Given the description of an element on the screen output the (x, y) to click on. 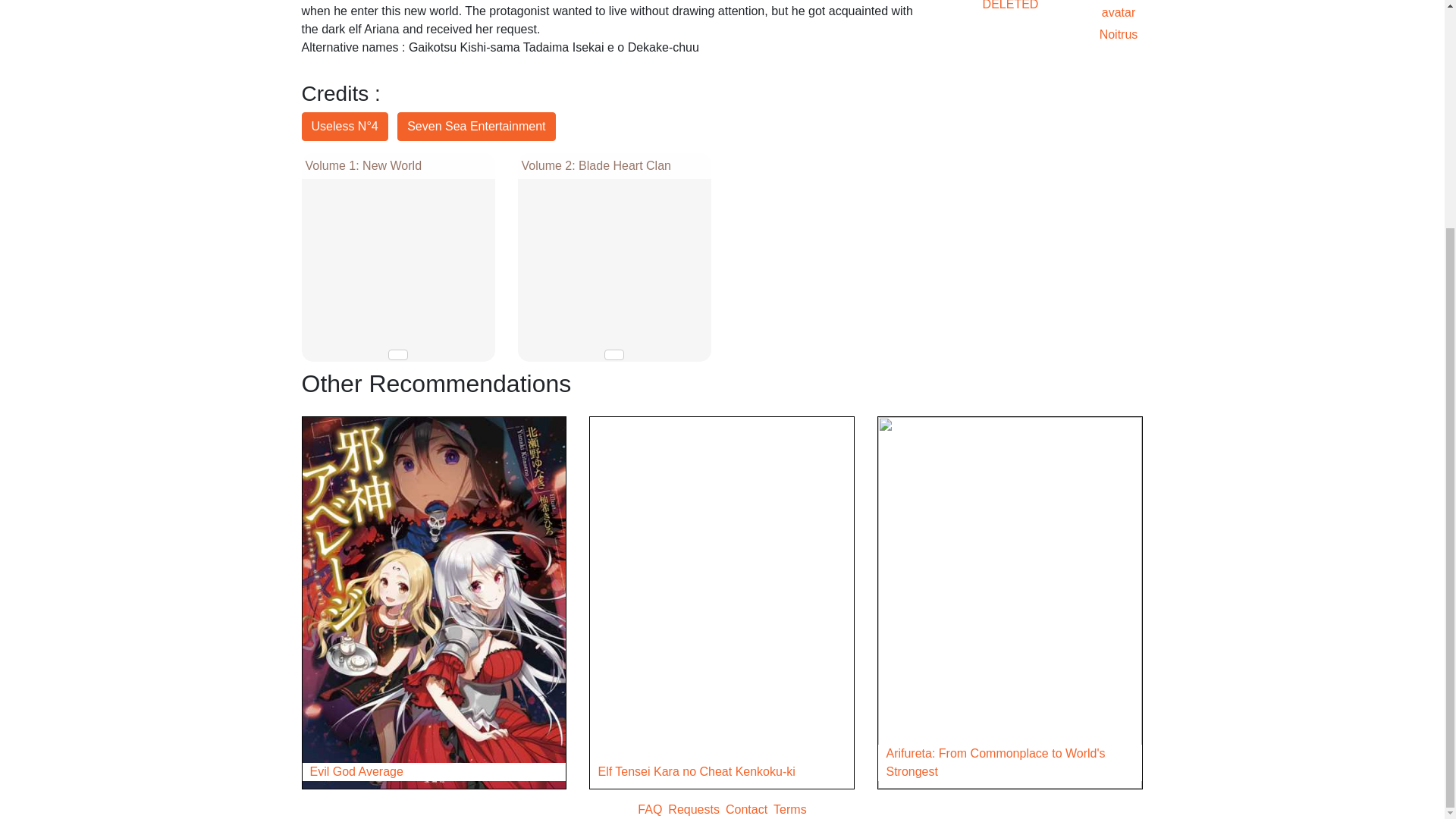
Arifureta: From Commonplace to World's Strongest (1009, 762)
Evil God Average (433, 771)
Seven Sea Entertainment (475, 126)
Buy (397, 354)
Buy (614, 354)
Publisher (475, 126)
Translator (344, 126)
Elf Tensei Kara no Cheat Kenkoku-ki (721, 771)
